Given the description of an element on the screen output the (x, y) to click on. 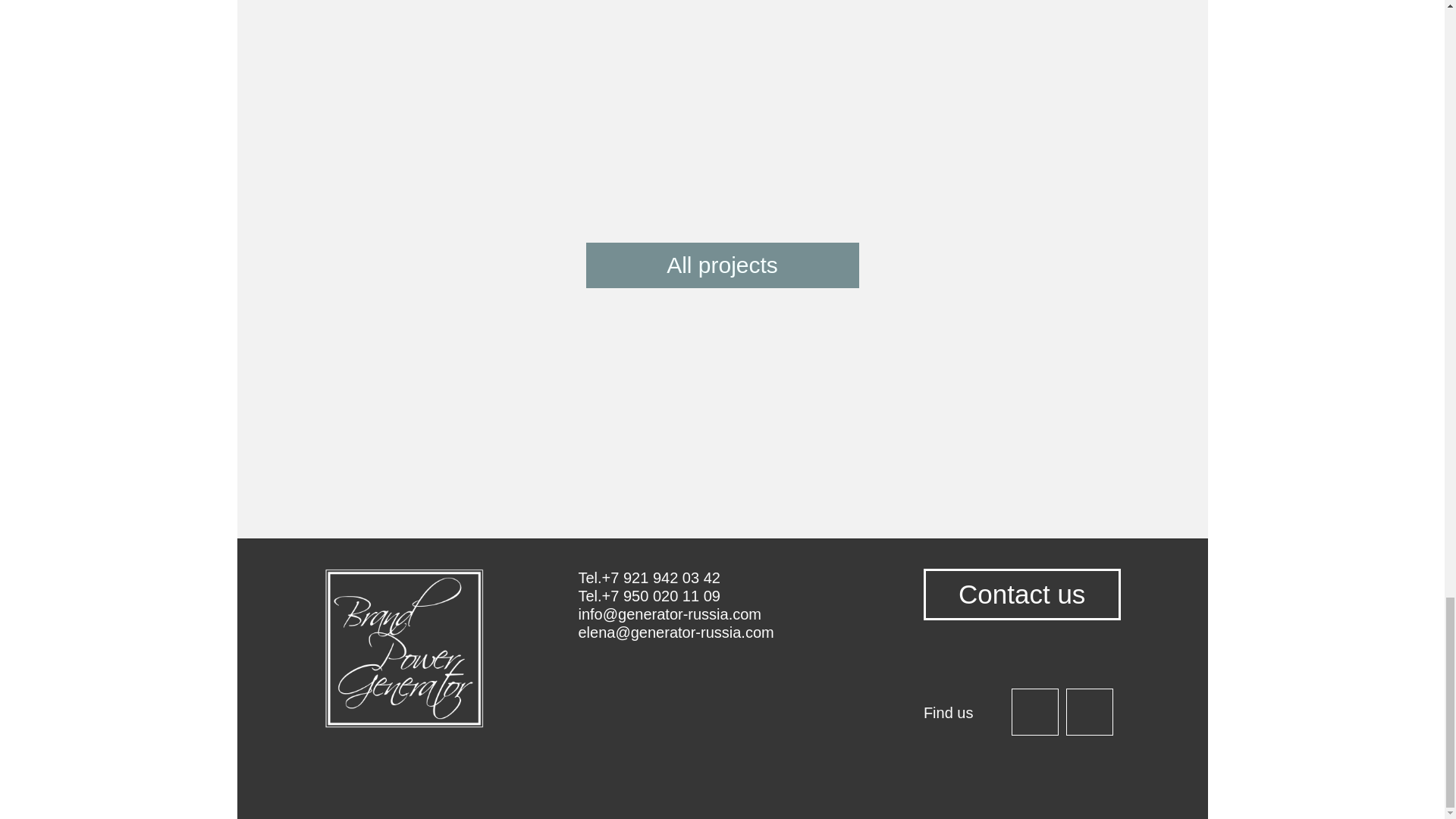
All projects (722, 265)
Contact us (1022, 593)
